Given the description of an element on the screen output the (x, y) to click on. 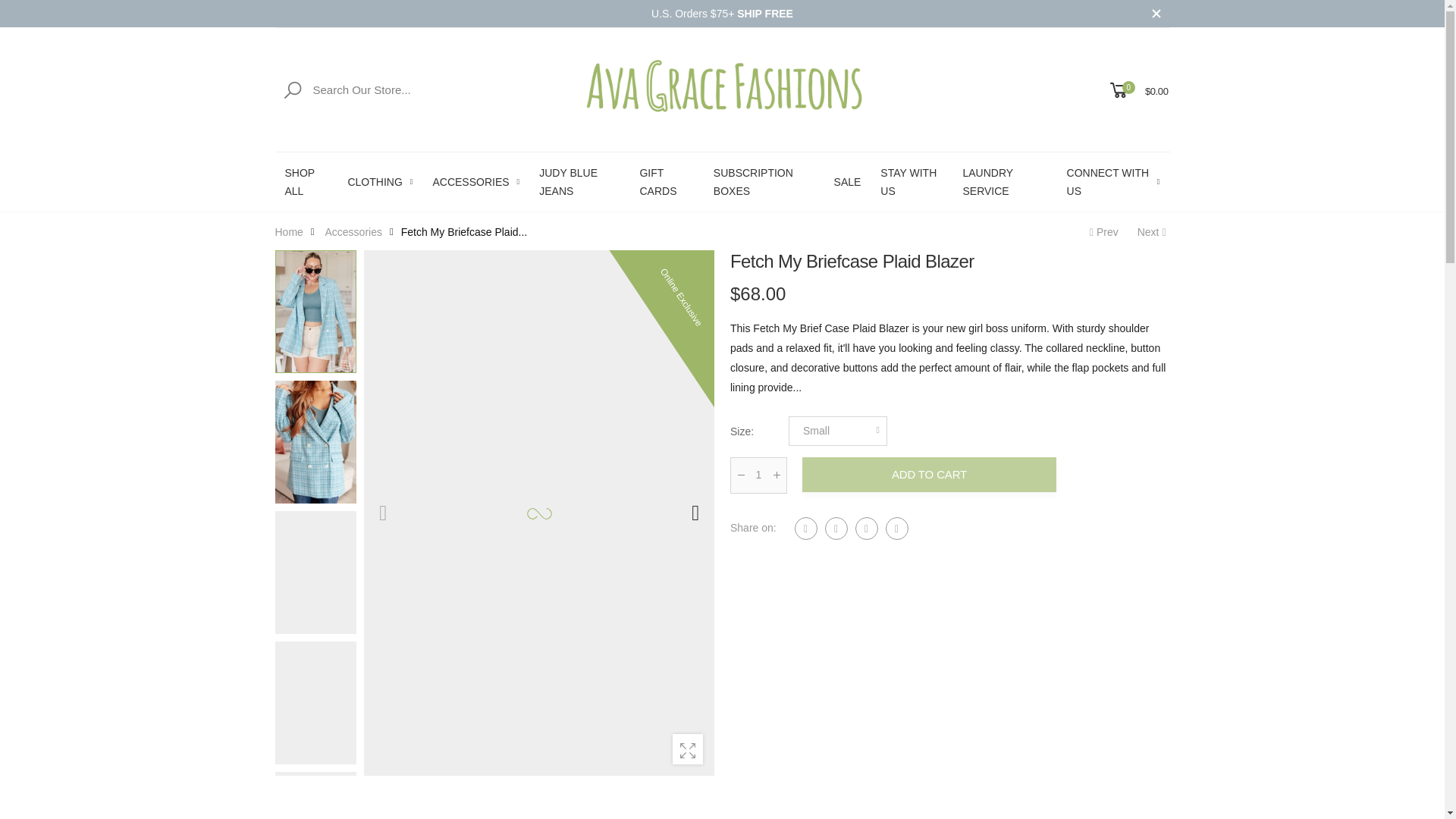
Home (288, 231)
1 (757, 475)
CONNECT WITH US (1113, 181)
GIFT CARDS (666, 181)
CLOTHING (379, 181)
ACCESSORIES (475, 181)
LAUNDRY SERVICE (1004, 181)
SUBSCRIPTION BOXES (763, 181)
JUDY BLUE JEANS (579, 181)
Over the Moon Necklace (1102, 231)
Accessories (352, 231)
What Do You Say Balloon Sleeve Blouse (1153, 231)
STAY WITH US (911, 181)
